Given the description of an element on the screen output the (x, y) to click on. 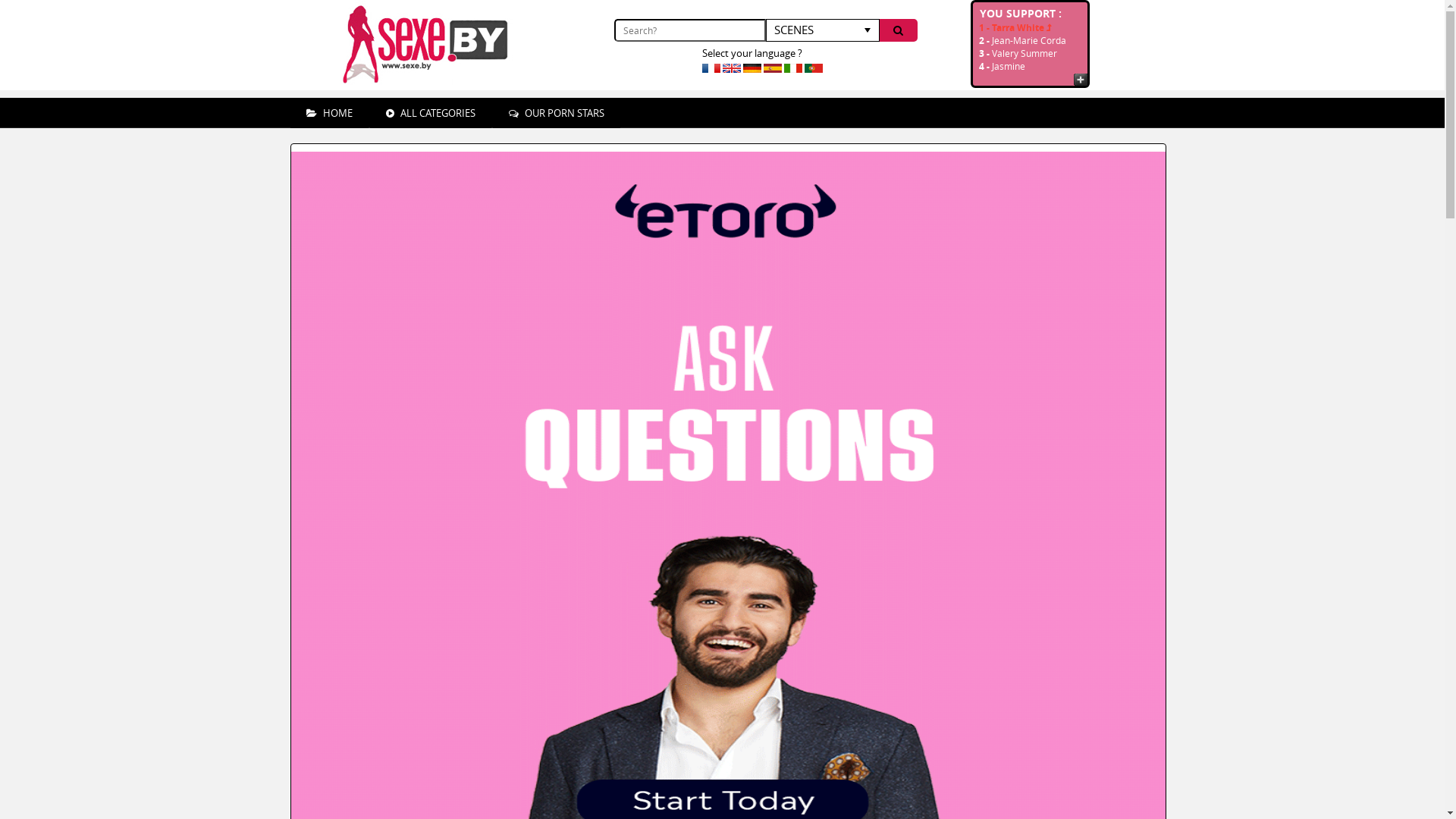
Valery Summer Element type: text (1024, 53)
Tarra White Element type: text (1021, 27)
ALL CATEGORIES Element type: text (430, 112)
Jean-Marie Corda Element type: text (1028, 40)
Jasmine Element type: text (1008, 65)
HOME Element type: text (328, 112)
OUR PORN STARS Element type: text (556, 112)
